Given the description of an element on the screen output the (x, y) to click on. 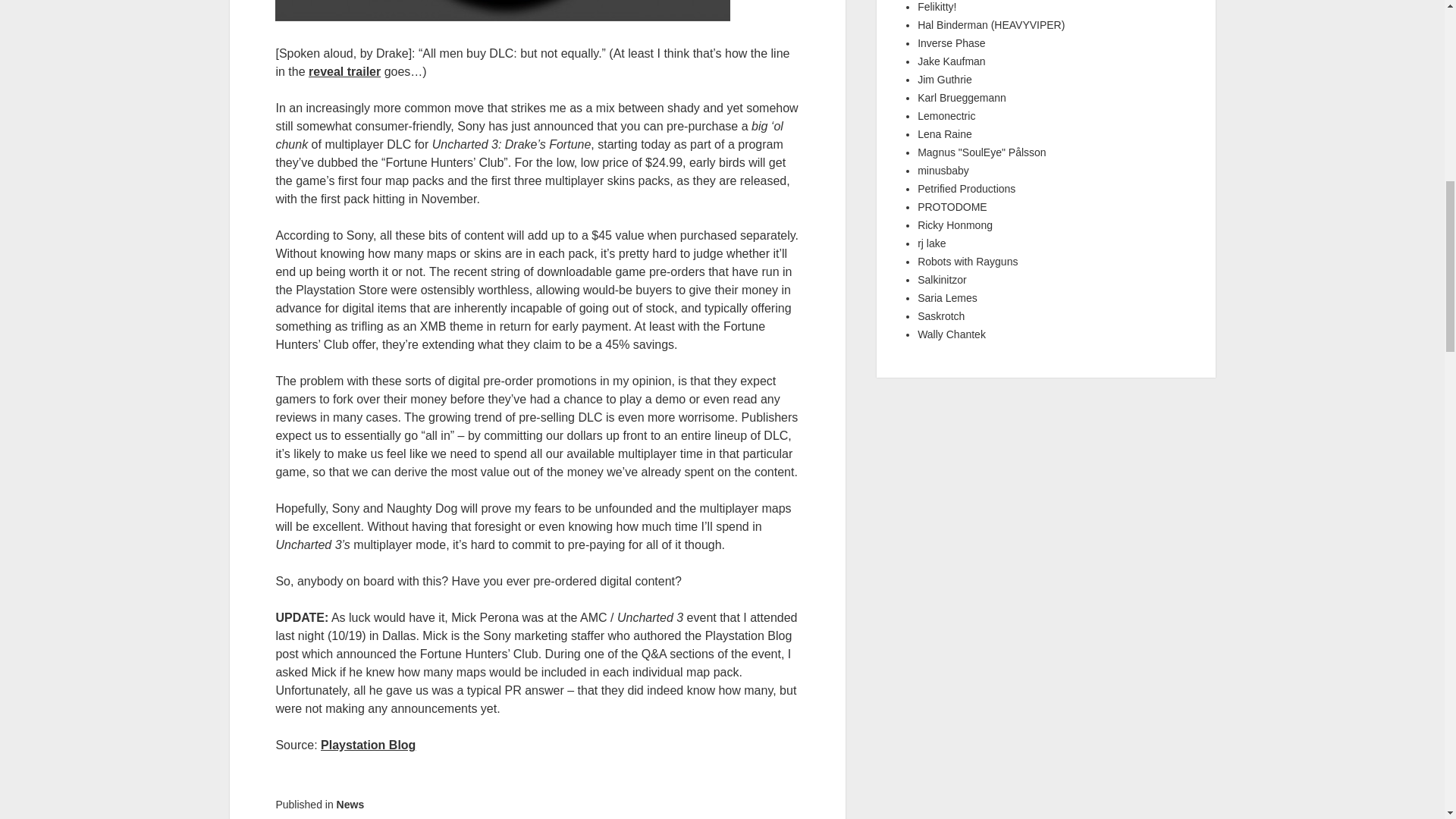
View all posts in News (350, 804)
Playstation Blog (367, 744)
reveal trailer (344, 71)
News (350, 804)
